Given the description of an element on the screen output the (x, y) to click on. 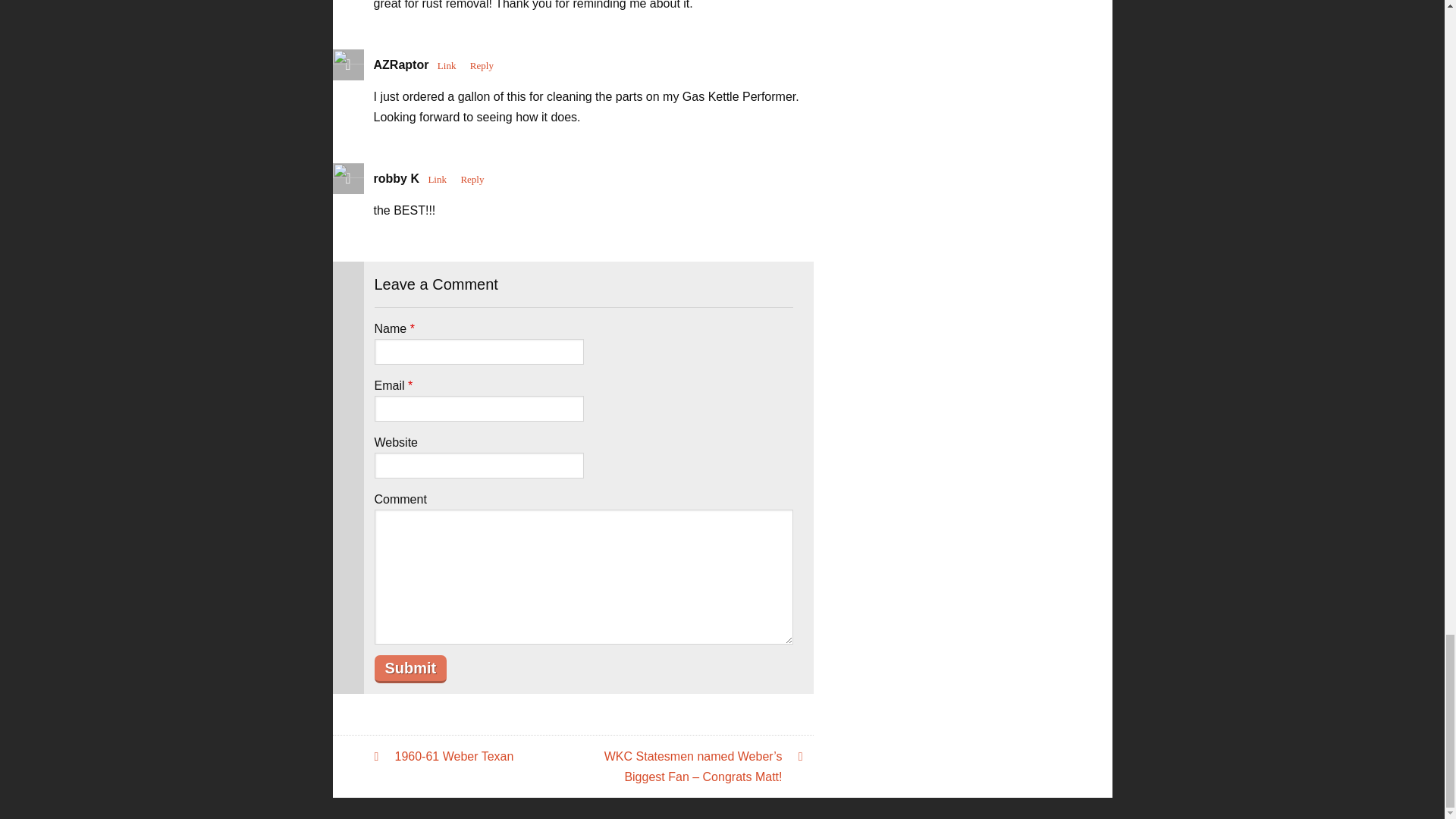
Reply (471, 178)
Link (436, 178)
Reply (481, 65)
permalink to this comment (436, 178)
permalink to this comment (446, 65)
Submit (410, 669)
Link (446, 65)
robby K (395, 178)
Submit (410, 669)
1960-61 Weber Texan (476, 756)
